Given the description of an element on the screen output the (x, y) to click on. 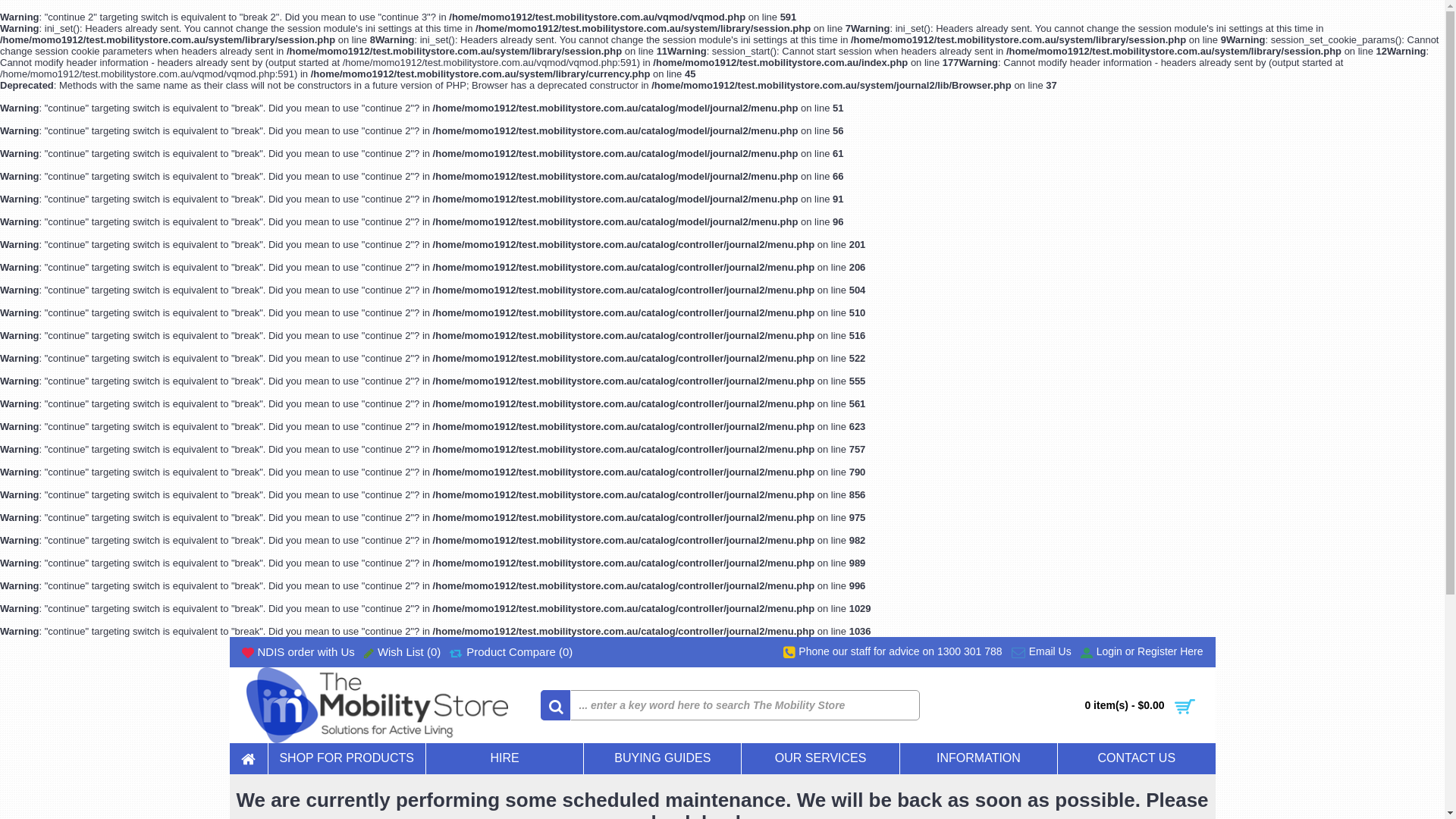
The Mobility Store Element type: hover (377, 705)
HIRE Element type: text (504, 758)
Phone our staff for advice on 1300 301 788 Element type: text (892, 652)
CONTACT US Element type: text (1135, 758)
Product Compare (0) Element type: text (511, 652)
SHOP FOR PRODUCTS Element type: text (346, 758)
NDIS order with Us Element type: text (297, 652)
BUYING GUIDES Element type: text (661, 758)
Email Us Element type: text (1041, 652)
OUR SERVICES Element type: text (819, 758)
Login or Register Here Element type: text (1142, 652)
Wish List (0) Element type: text (402, 652)
INFORMATION Element type: text (978, 758)
0 item(s) - $0.00 Element type: text (1084, 705)
